Given the description of an element on the screen output the (x, y) to click on. 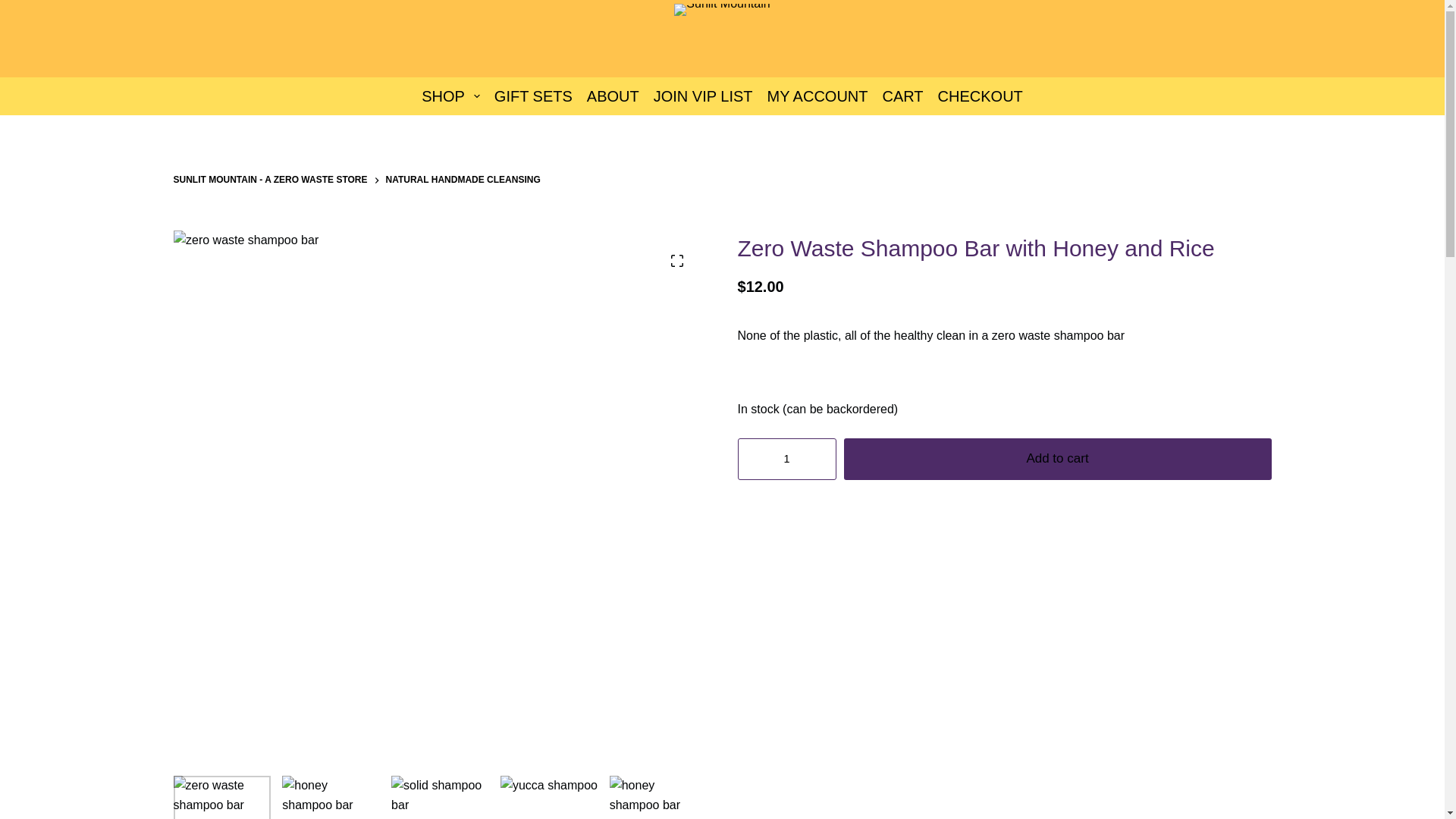
GIFT SETS (532, 95)
shampoo bar with props resized (331, 797)
SHOP (450, 95)
MY ACCOUNT (817, 95)
bare shampoo with props resized (440, 797)
hex shampoo bar resized - white background (658, 797)
zero waste shampoo bar (221, 797)
CHECKOUT (979, 95)
1 (785, 458)
Skip to content (15, 7)
